Given the description of an element on the screen output the (x, y) to click on. 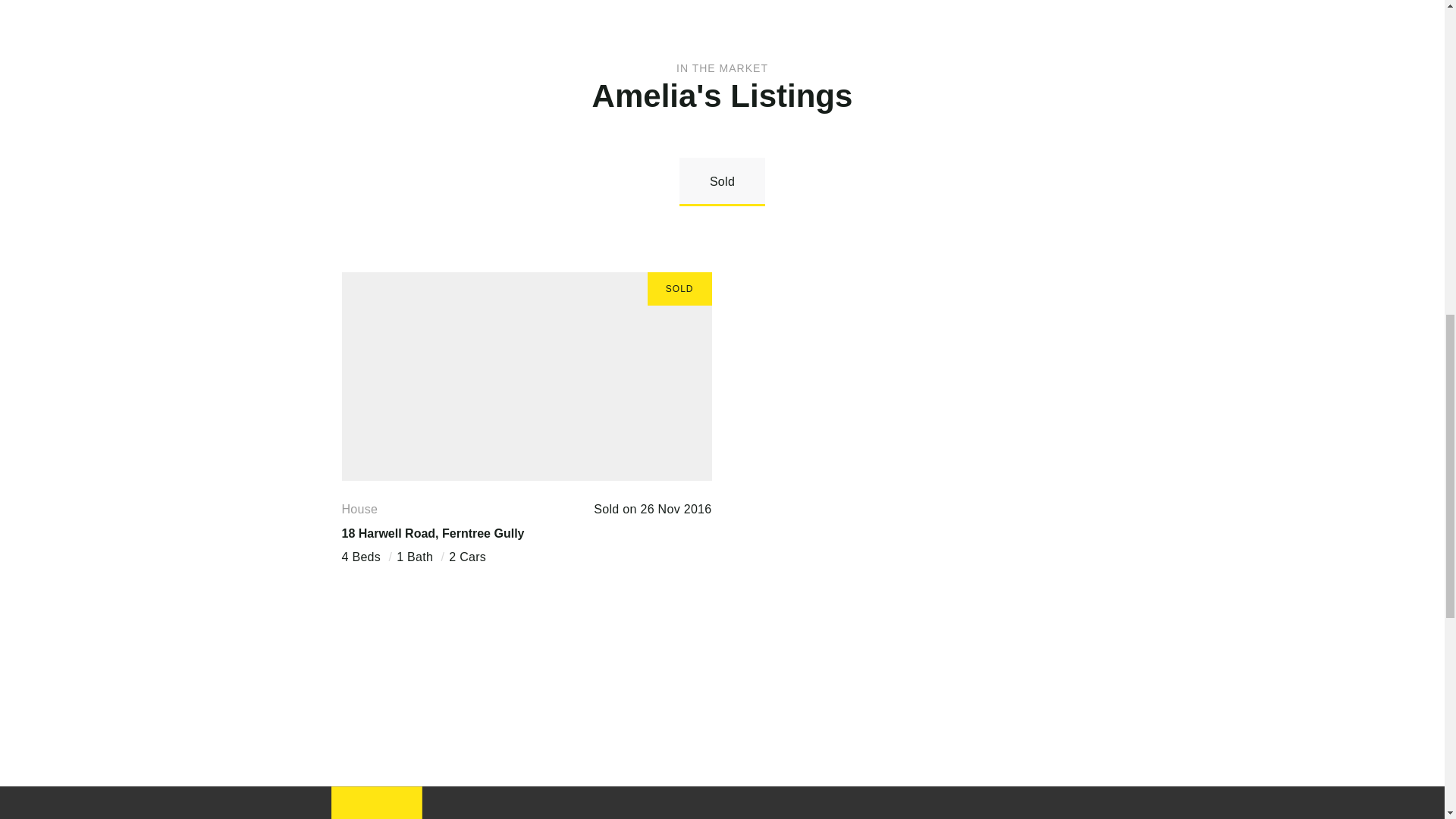
Ray White (376, 802)
SOLD (525, 375)
18 Harwell Road, Ferntree Gully (432, 532)
